Given the description of an element on the screen output the (x, y) to click on. 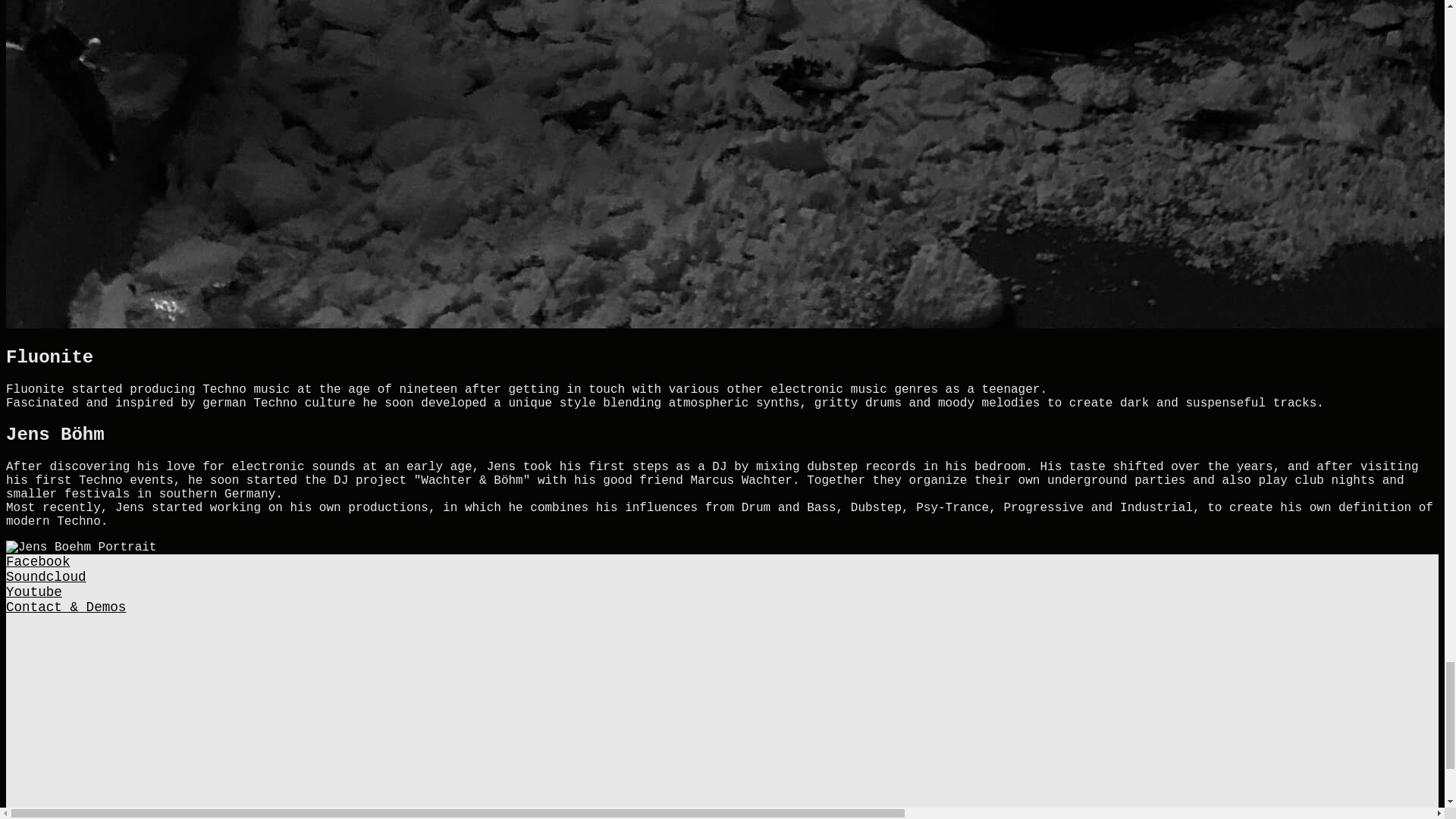
Soundcloud (45, 576)
Facebook (37, 561)
Youtube (33, 591)
